Given the description of an element on the screen output the (x, y) to click on. 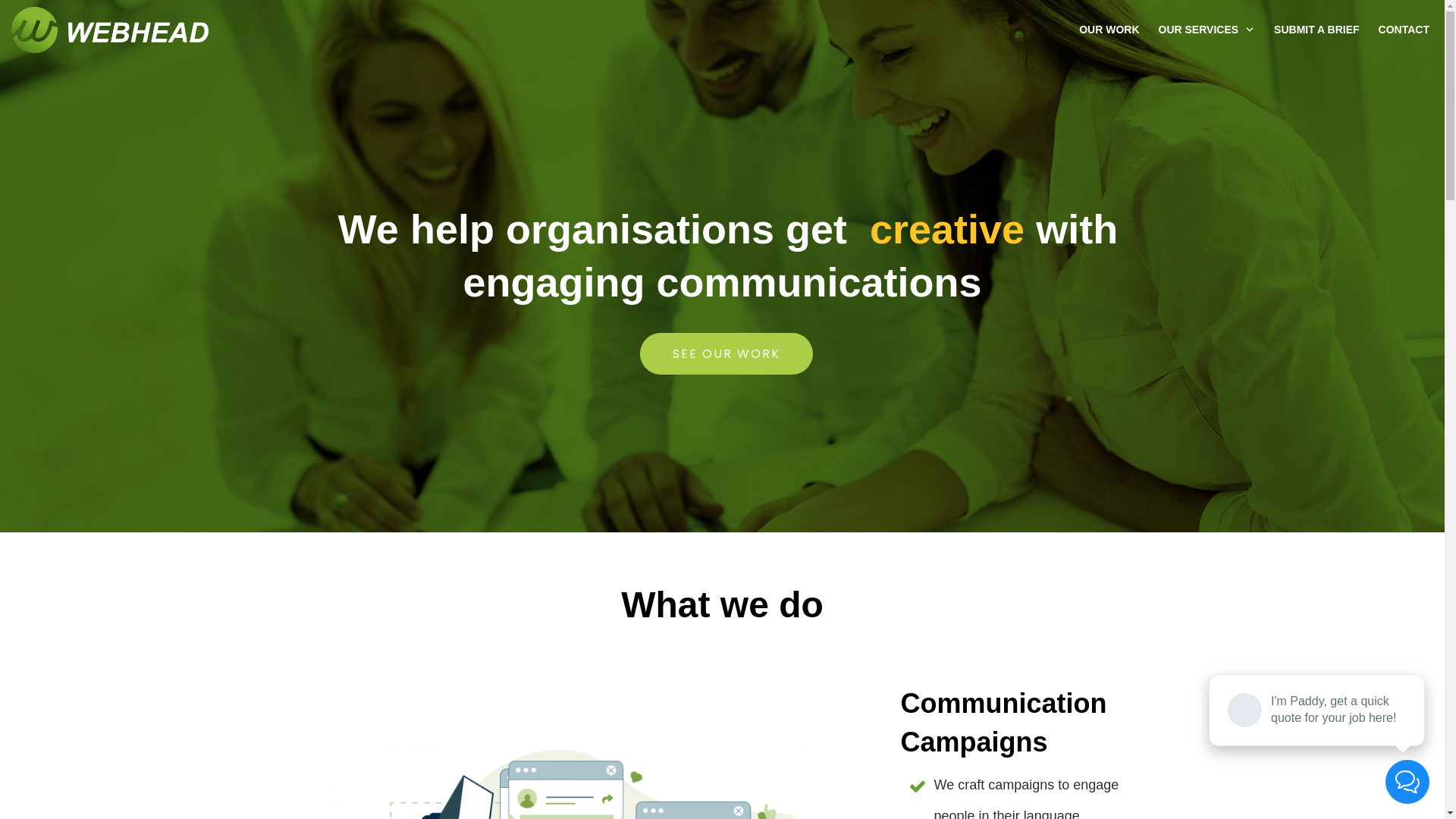
CONTACT Element type: text (1403, 29)
SEE OUR WORK Element type: text (726, 353)
SUBMIT A BRIEF Element type: text (1316, 29)
OUR SERVICES Element type: text (1206, 29)
OUR WORK Element type: text (1109, 29)
